Given the description of an element on the screen output the (x, y) to click on. 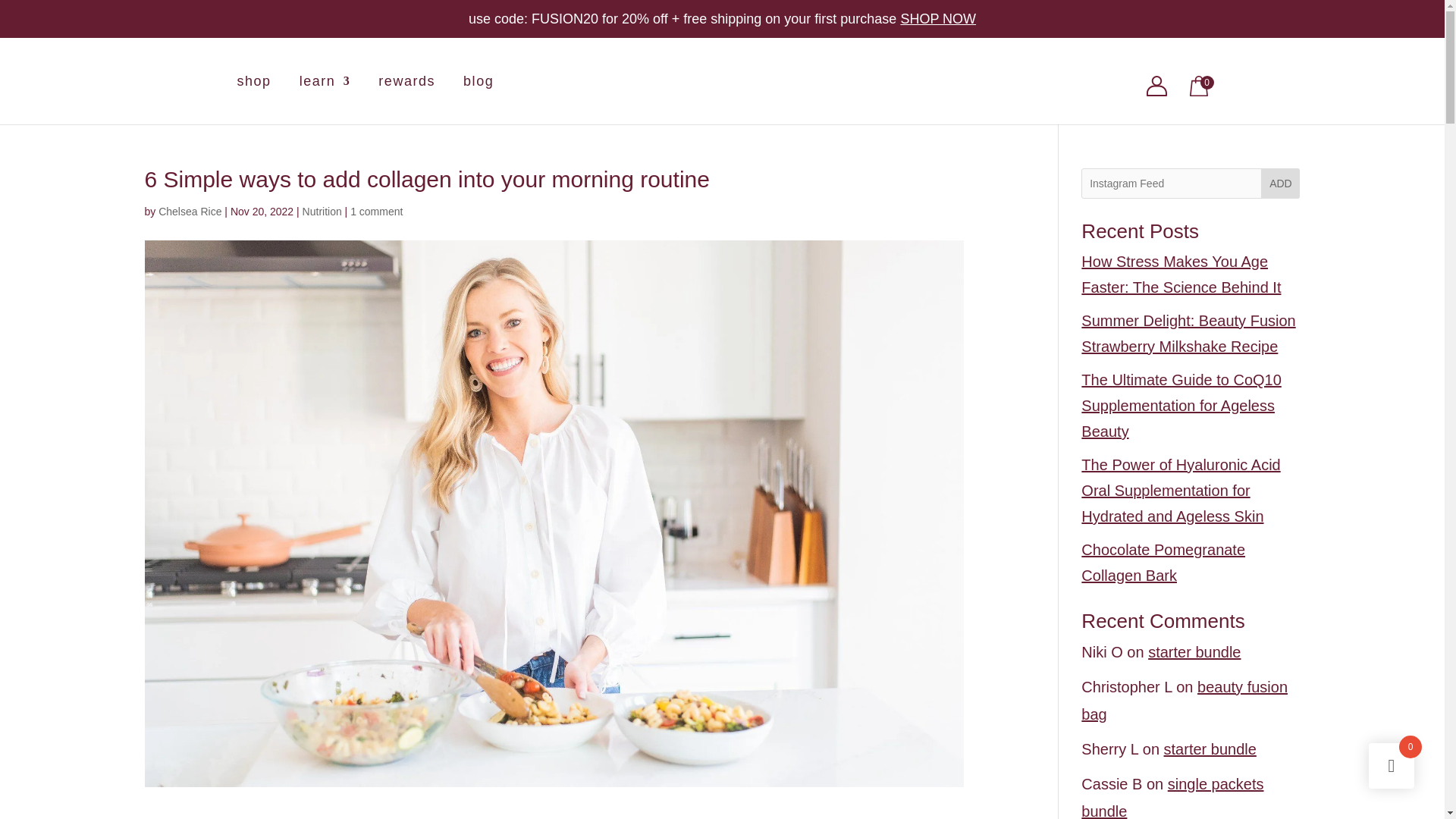
Summer Delight: Beauty Fusion Strawberry Milkshake Recipe (1188, 333)
SHOP NOW (937, 18)
starter bundle (1209, 749)
starter bundle (1194, 651)
0 (1198, 90)
1 comment (376, 211)
rewards (406, 100)
ADD (1280, 183)
Nutrition (322, 211)
Posts by Chelsea Rice (189, 211)
learn (324, 100)
Chocolate Pomegranate Collagen Bark (1162, 562)
Chelsea Rice (189, 211)
single packets bundle (1172, 797)
